Given the description of an element on the screen output the (x, y) to click on. 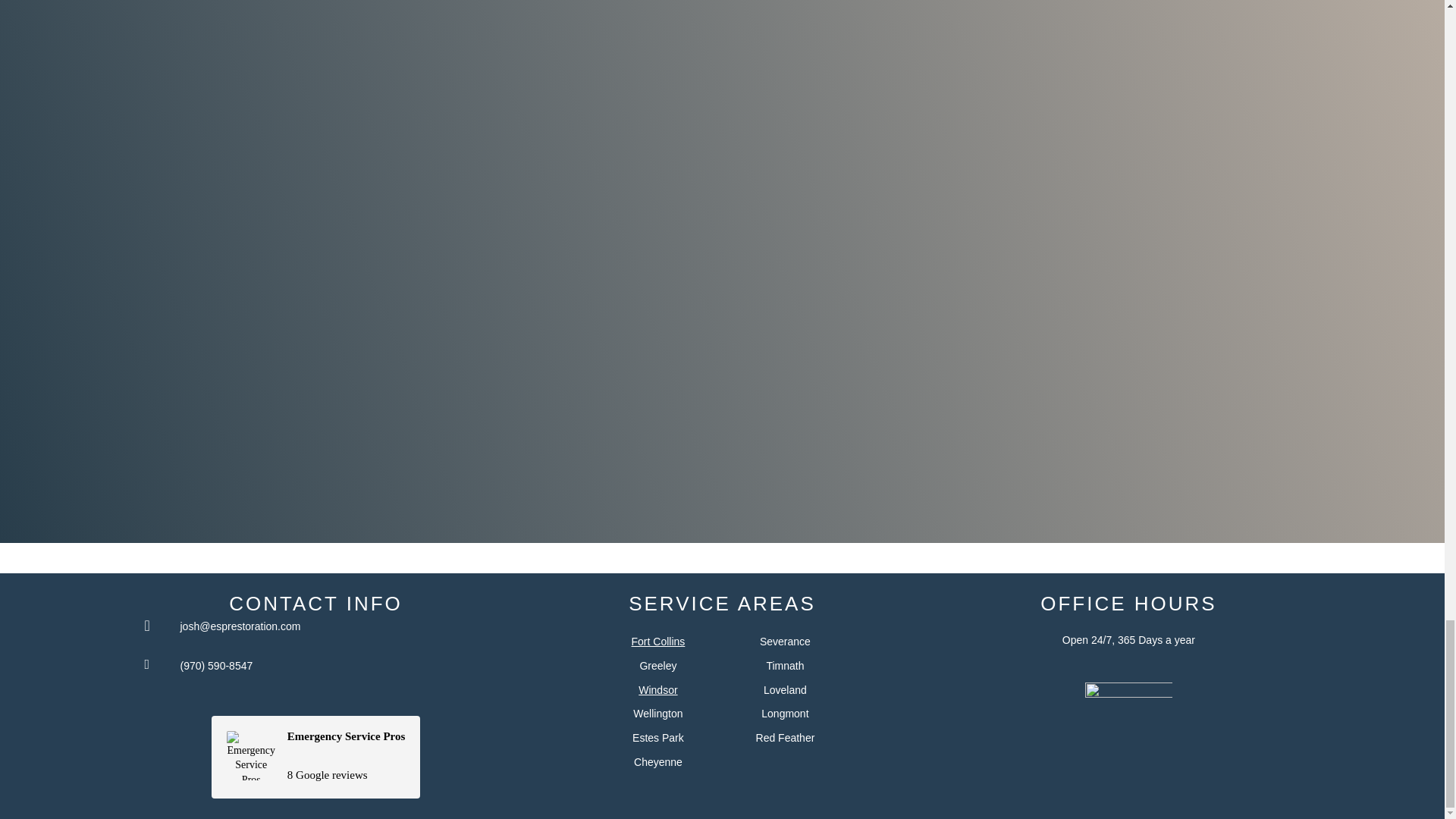
Cheyenne (315, 756)
Loveland (657, 761)
Greeley (784, 689)
Red Feather (658, 665)
Estes Park (785, 737)
Wellington (657, 737)
Severance (657, 713)
Longmont (785, 641)
Fort Collins (784, 713)
Timnath (658, 641)
Windsor (784, 665)
